Given the description of an element on the screen output the (x, y) to click on. 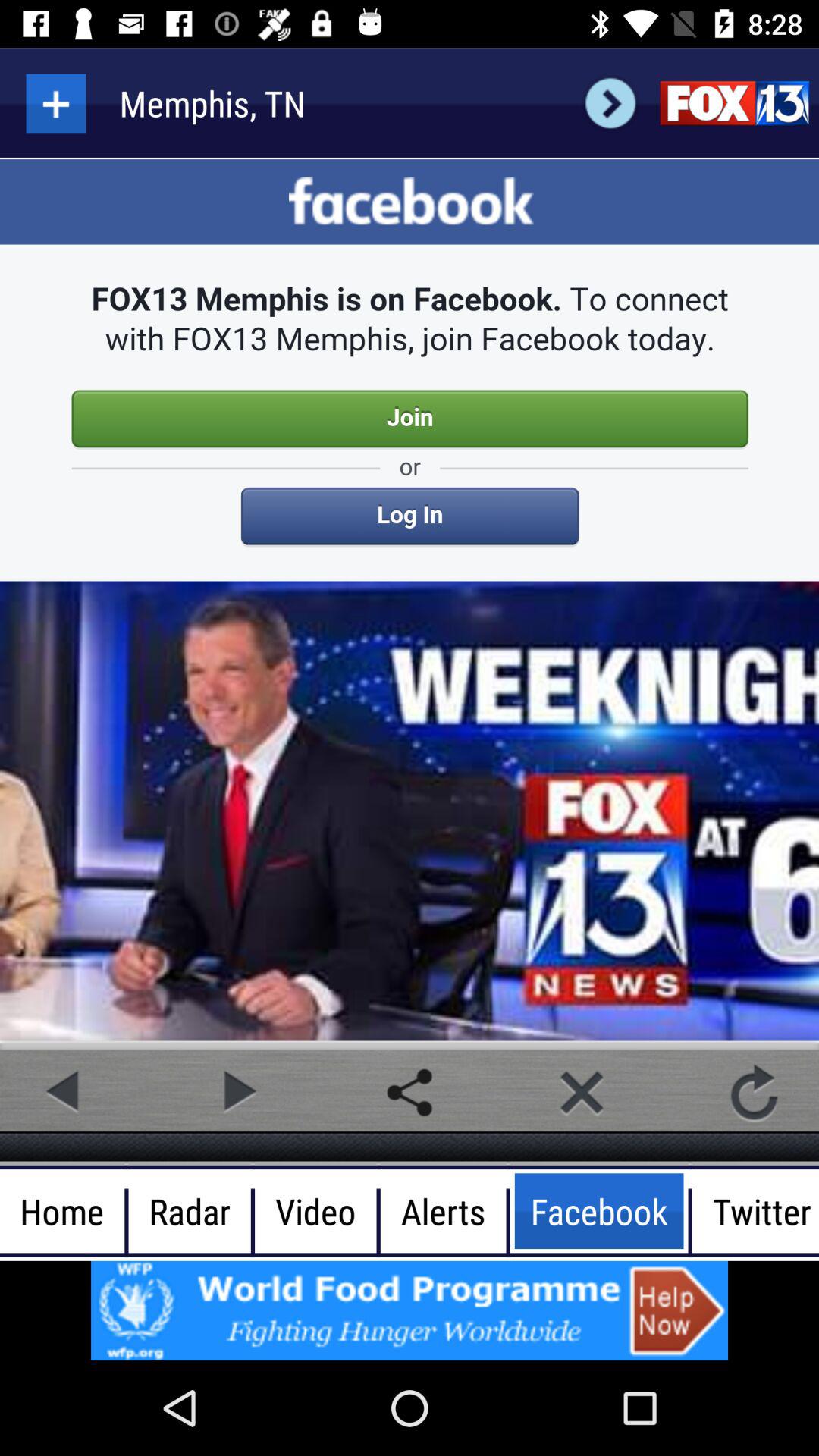
close the app (581, 1092)
